Given the description of an element on the screen output the (x, y) to click on. 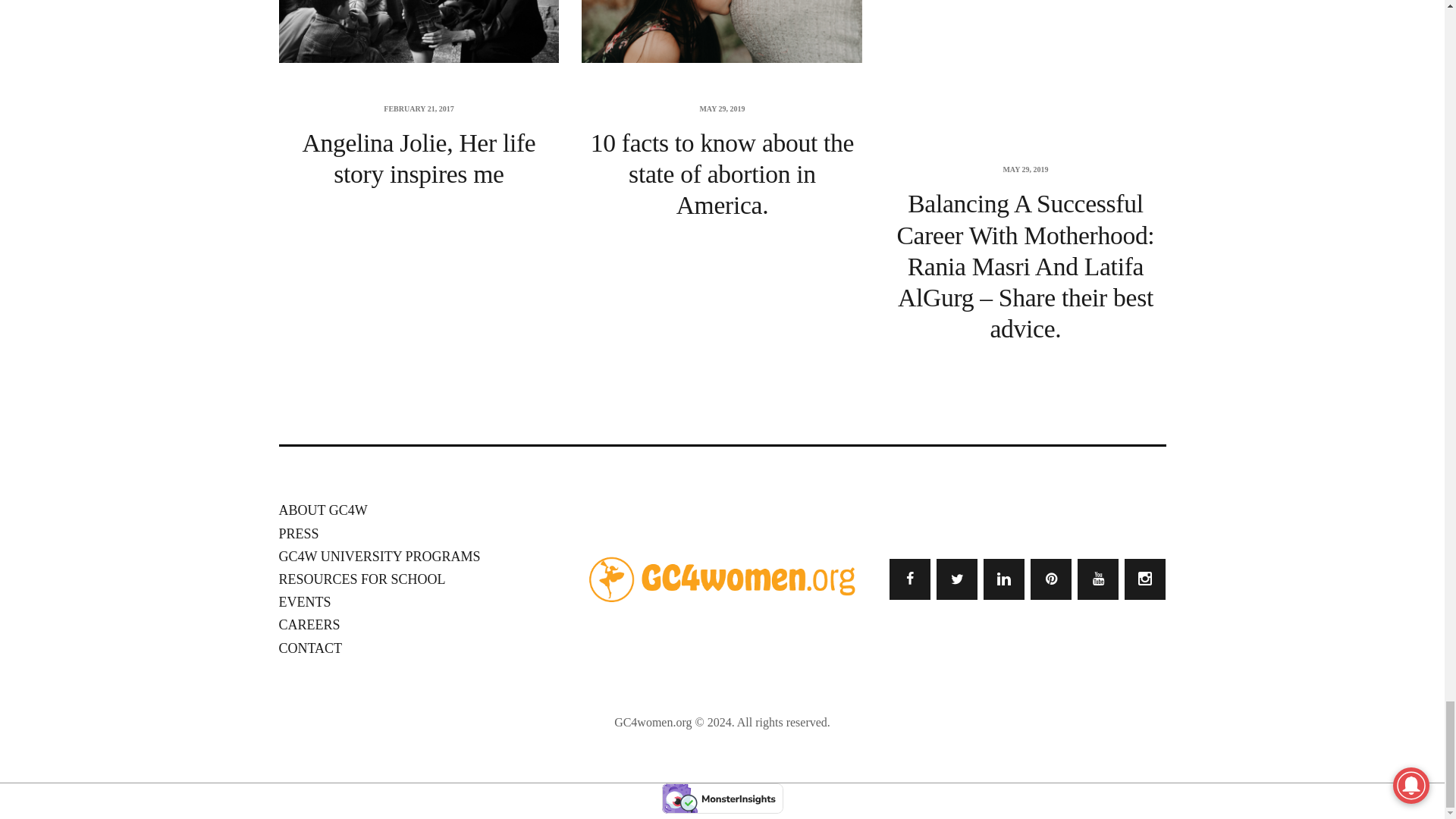
Verified by MonsterInsights (722, 798)
